Given the description of an element on the screen output the (x, y) to click on. 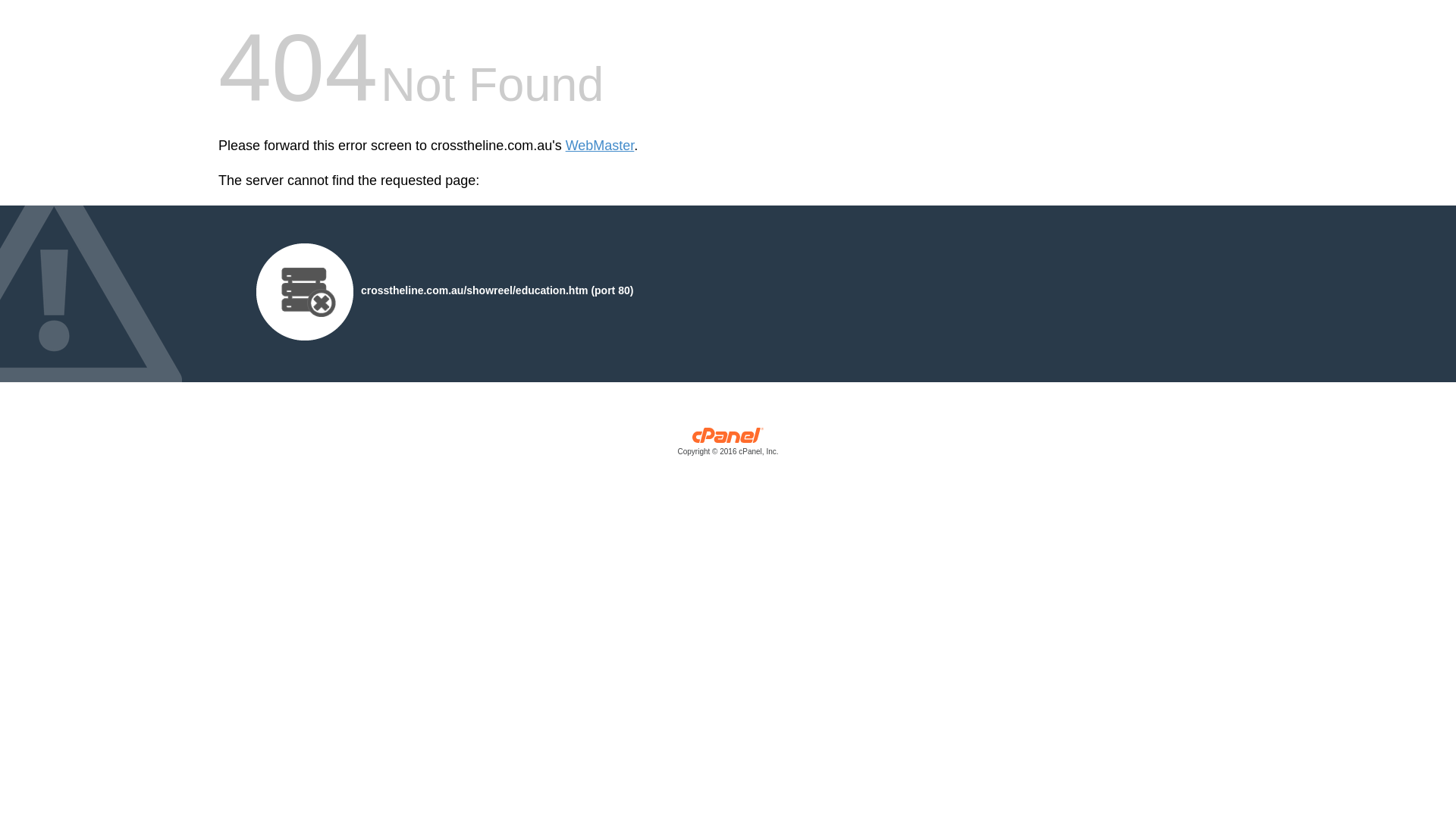
WebMaster Element type: text (599, 145)
